Given the description of an element on the screen output the (x, y) to click on. 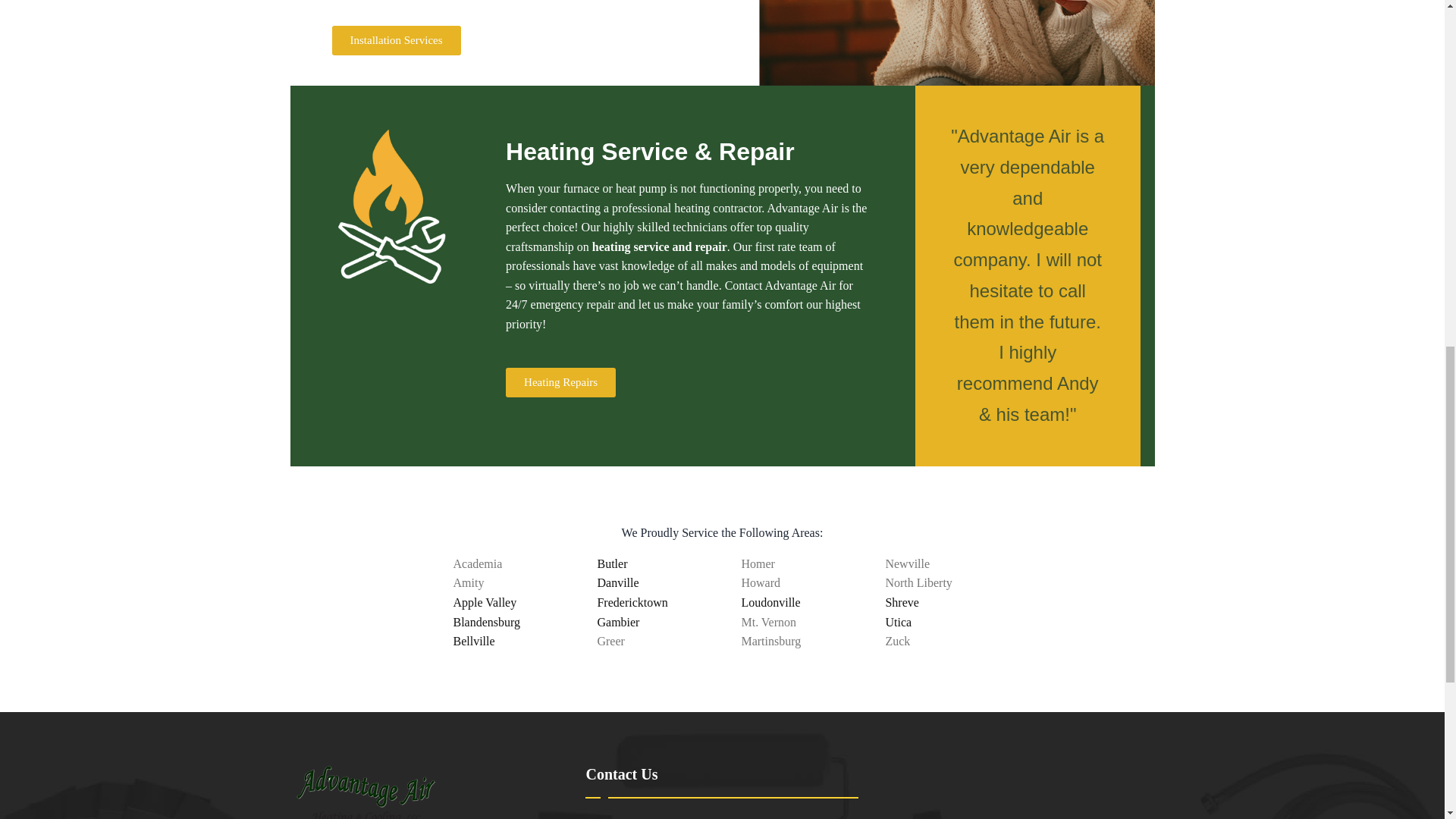
Go to top (1406, 22)
